Given the description of an element on the screen output the (x, y) to click on. 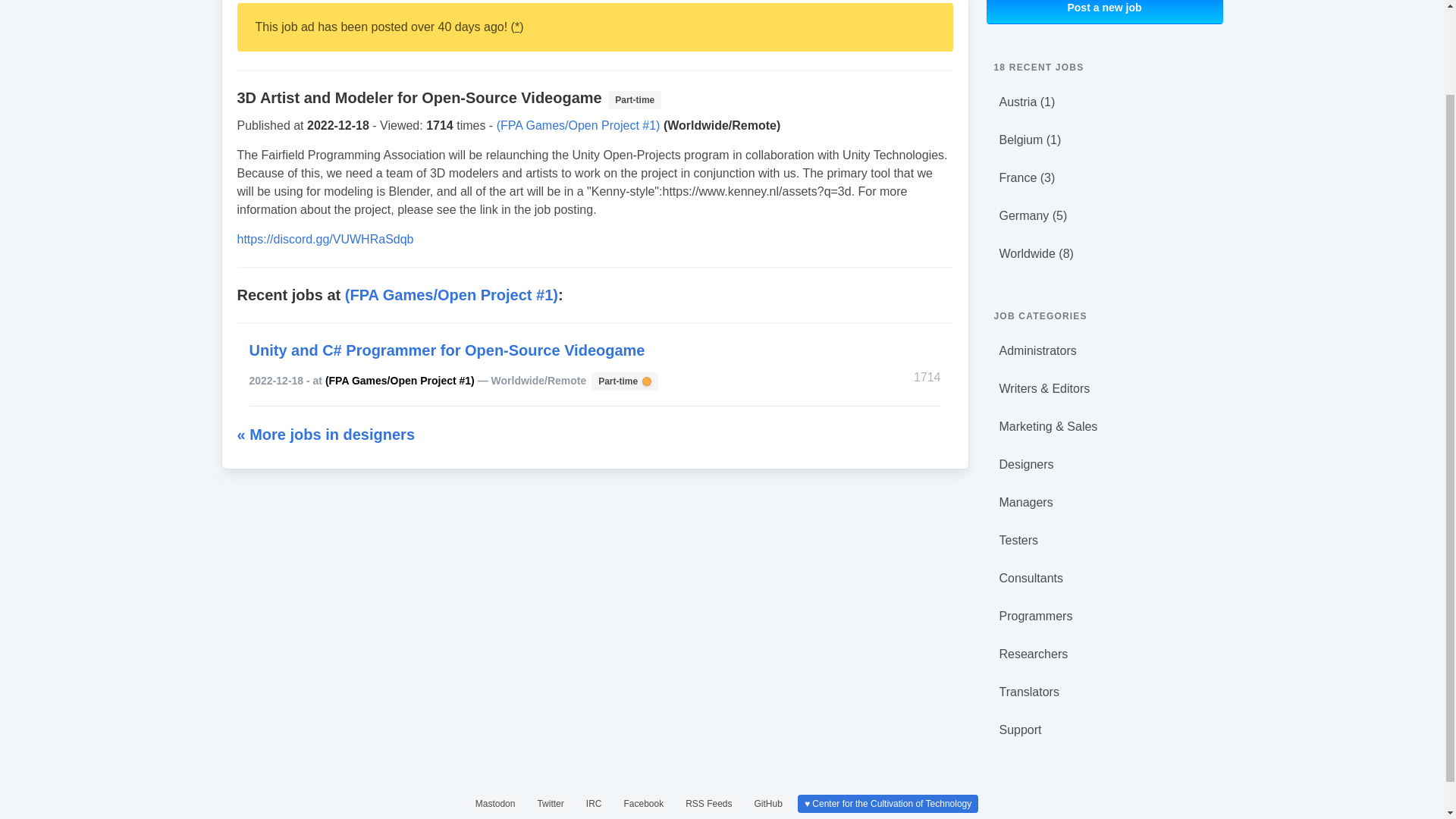
Consultants (1105, 578)
Translators (1105, 692)
Programmers (1105, 616)
GitHub (623, 380)
Support (768, 803)
RSS Feeds (1105, 729)
Testers (708, 803)
Researchers (1105, 540)
IRC (1105, 654)
Designers (593, 803)
Managers (1105, 464)
Post a new job (1105, 502)
Twitter (1104, 12)
Part-time (549, 803)
